Given the description of an element on the screen output the (x, y) to click on. 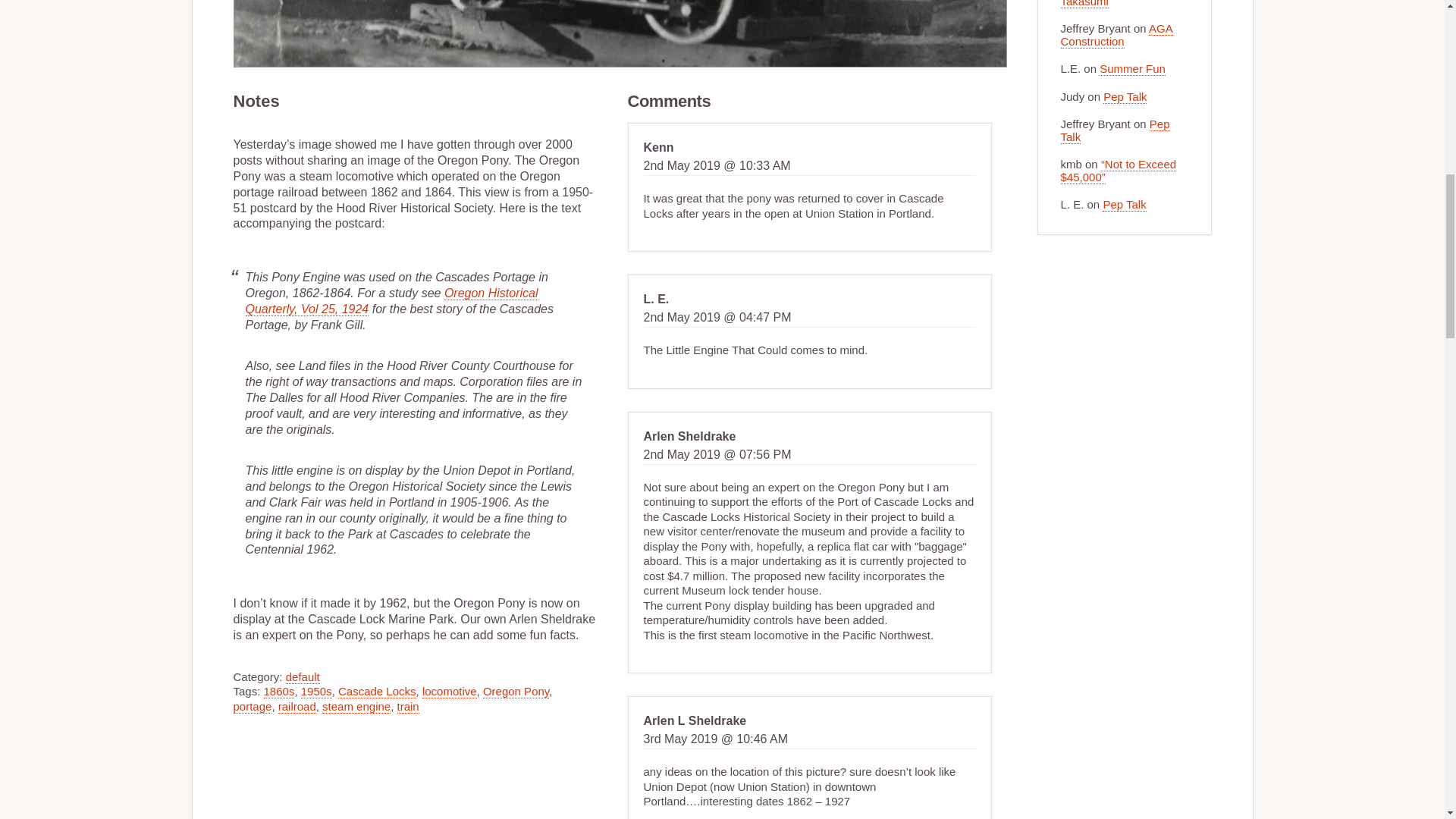
Oregon Historical Quarterly, Vol 25, 1924 (392, 301)
